Given the description of an element on the screen output the (x, y) to click on. 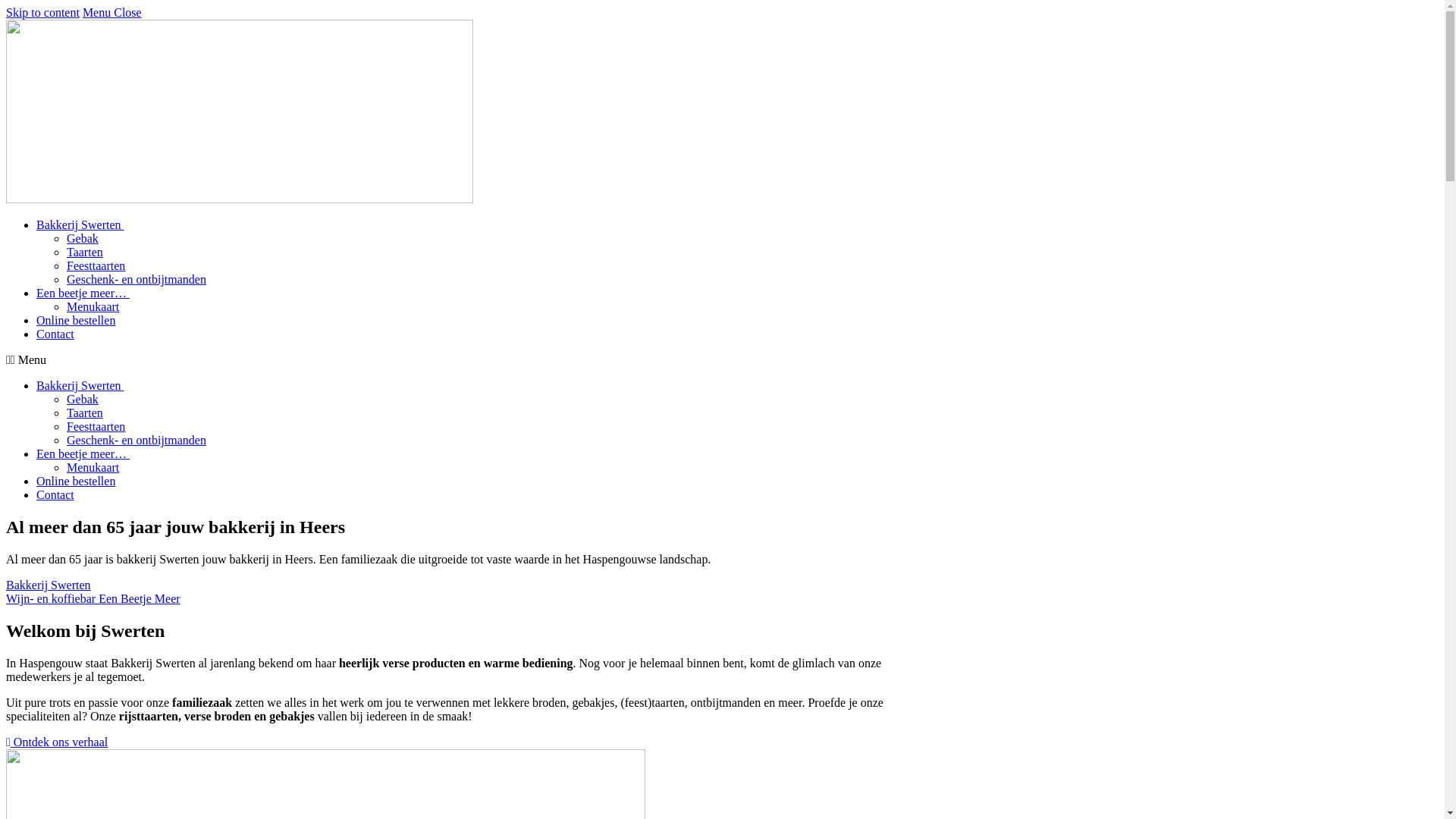
Geschenk- en ontbijtmanden Element type: text (136, 279)
Menukaart Element type: text (92, 306)
Contact Element type: text (55, 494)
Bakkerij Swerten  Element type: text (80, 385)
Taarten Element type: text (84, 412)
Online bestellen Element type: text (75, 480)
Feesttaarten Element type: text (95, 265)
Menu Close Element type: text (111, 12)
Online bestellen Element type: text (75, 319)
Skip to content Element type: text (42, 12)
Geschenk- en ontbijtmanden Element type: text (136, 439)
Bakkerij Swerten  Element type: text (80, 224)
Ontdek ons verhaal Element type: text (56, 741)
Wijn- en koffiebar Een Beetje Meer Element type: text (93, 598)
Feesttaarten Element type: text (95, 426)
Bakkerij Swerten Element type: text (48, 584)
Gebak Element type: text (82, 238)
Gebak Element type: text (82, 398)
Menukaart Element type: text (92, 467)
Contact Element type: text (55, 333)
Taarten Element type: text (84, 251)
